Given the description of an element on the screen output the (x, y) to click on. 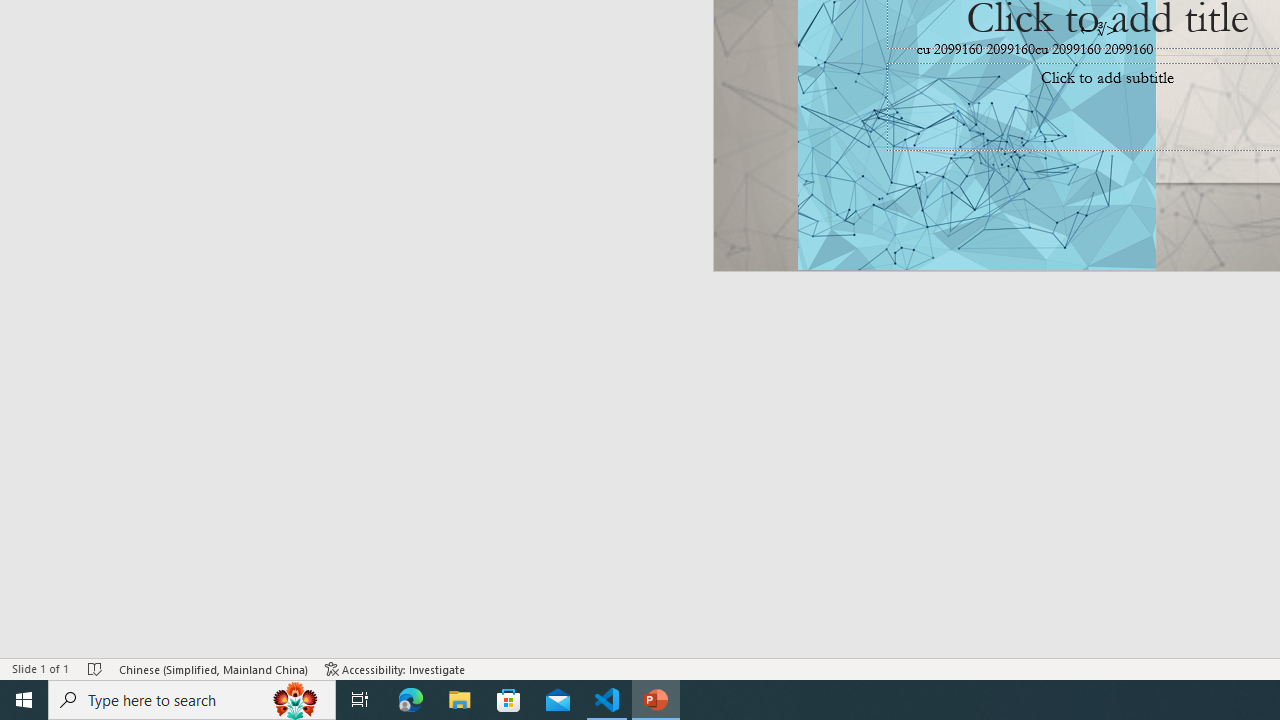
TextBox 7 (1099, 30)
